Given the description of an element on the screen output the (x, y) to click on. 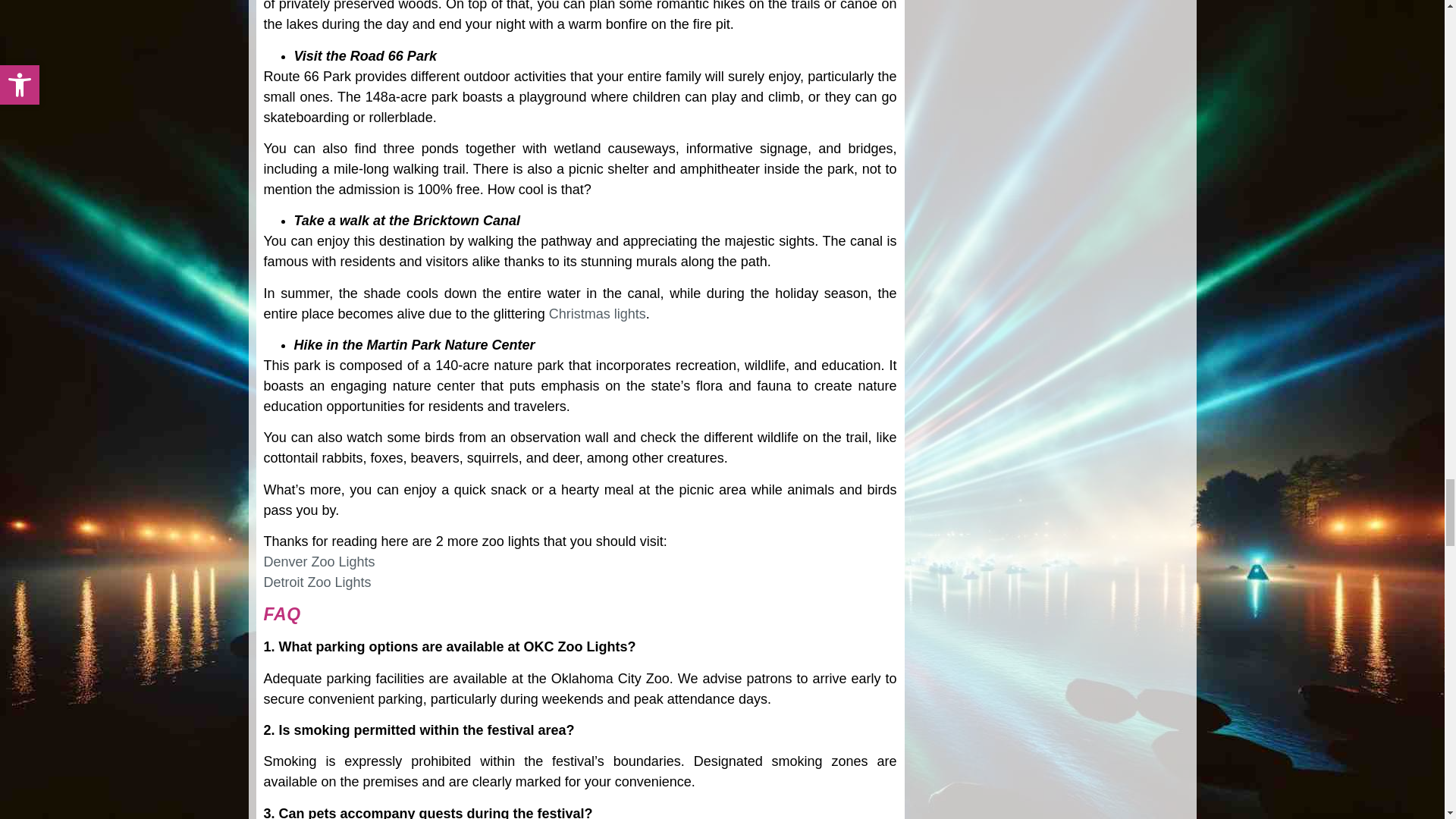
Denver Zoo Lights (319, 561)
Christmas lights (597, 313)
